Given the description of an element on the screen output the (x, y) to click on. 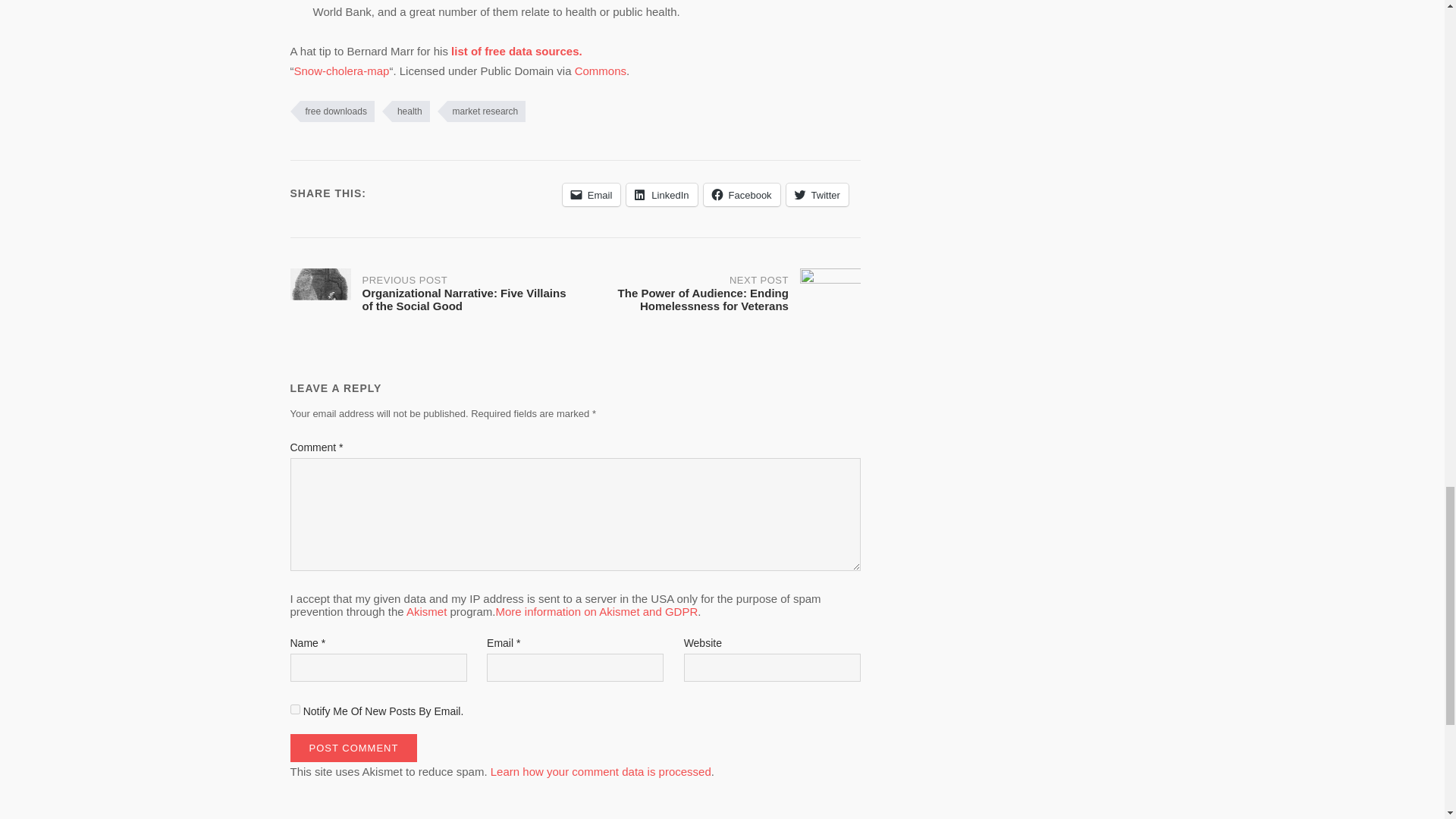
health (405, 111)
free downloads (331, 111)
list of free data sources. (516, 51)
Click to share on Facebook (741, 194)
subscribe (294, 709)
Click to share on Twitter (817, 194)
Snow-cholera-map (342, 70)
Commons (600, 70)
Post Comment (352, 747)
Click to share on LinkedIn (661, 194)
